Given the description of an element on the screen output the (x, y) to click on. 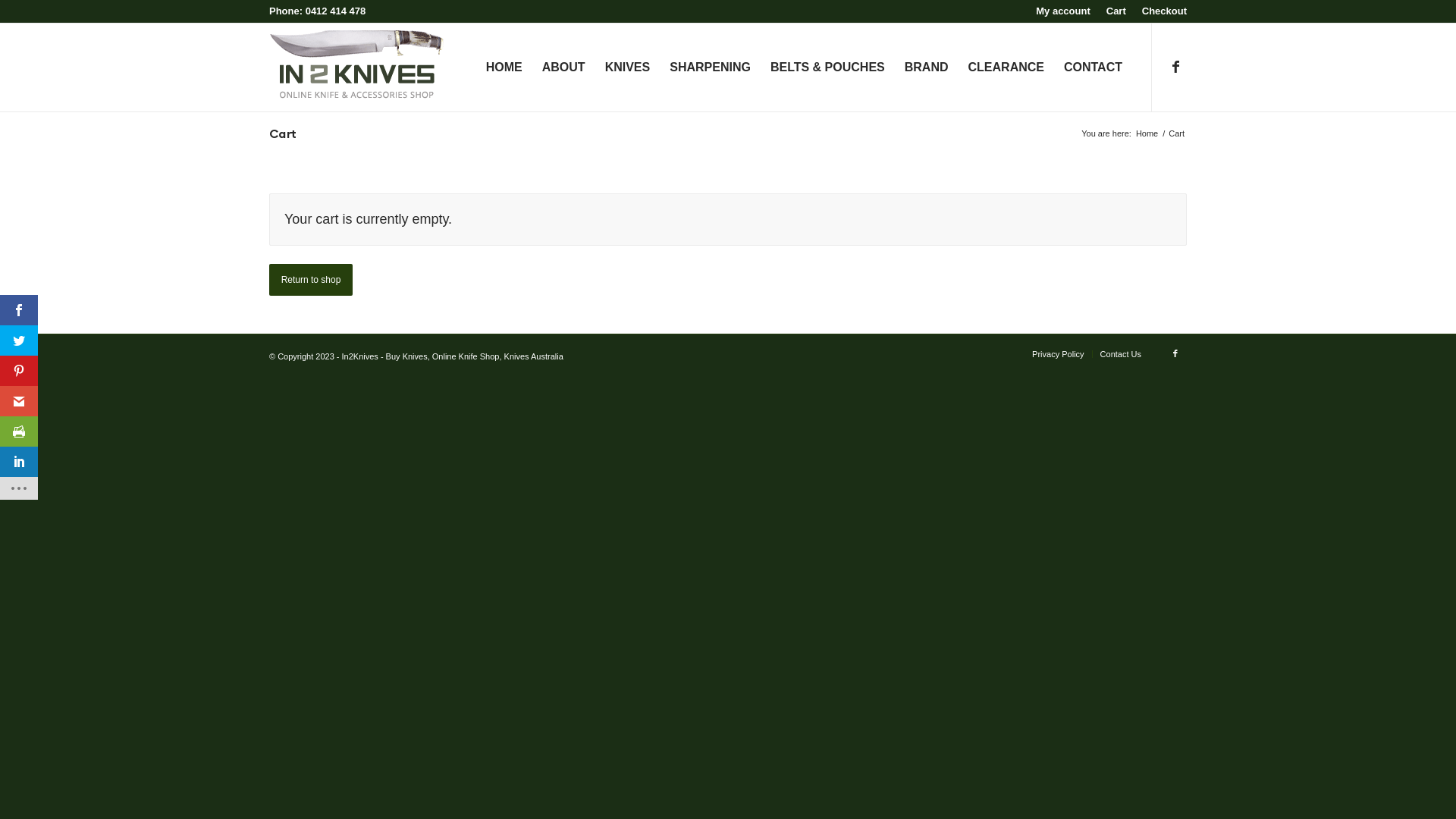
My account Element type: text (1062, 10)
Cart Element type: text (282, 133)
in2knives-logo-web Element type: hover (356, 60)
HOME Element type: text (504, 67)
CLEARANCE Element type: text (1006, 67)
CONTACT Element type: text (1093, 67)
Cart Element type: text (1116, 10)
Facebook Element type: hover (1175, 353)
Checkout Element type: text (1164, 10)
Privacy Policy Element type: text (1057, 353)
Contact Us Element type: text (1120, 353)
KNIVES Element type: text (627, 67)
SHARPENING Element type: text (709, 67)
BRAND Element type: text (926, 67)
Home Element type: text (1146, 133)
Return to shop Element type: text (310, 279)
ABOUT Element type: text (563, 67)
BELTS & POUCHES Element type: text (827, 67)
Facebook Element type: hover (1175, 66)
